Given the description of an element on the screen output the (x, y) to click on. 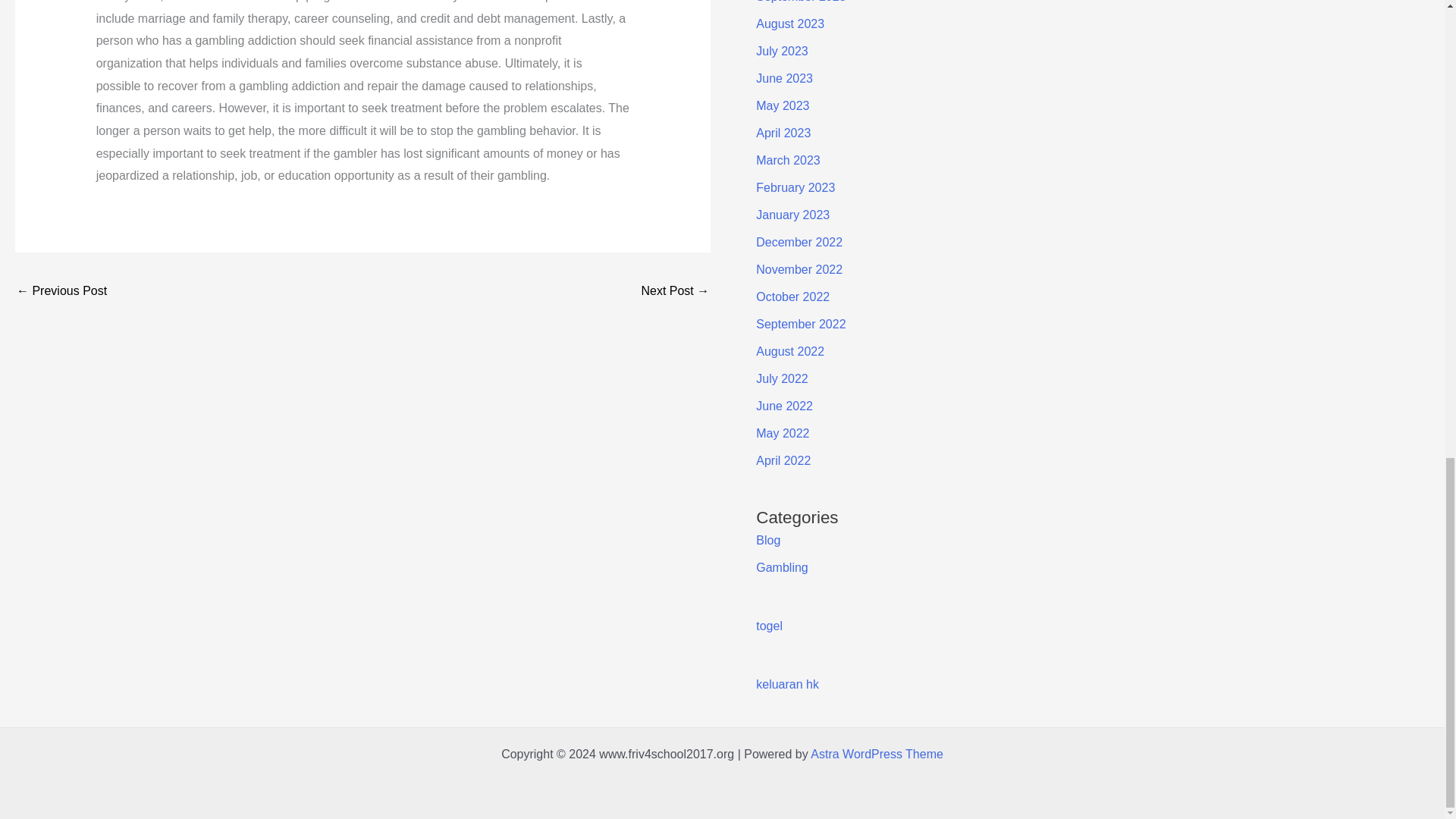
What Is a Daily News? (61, 292)
March 2023 (788, 160)
May 2023 (782, 105)
December 2022 (799, 241)
June 2023 (783, 78)
November 2022 (799, 269)
April 2023 (782, 132)
The Basics of Poker (674, 292)
August 2023 (789, 23)
July 2023 (781, 51)
